Given the description of an element on the screen output the (x, y) to click on. 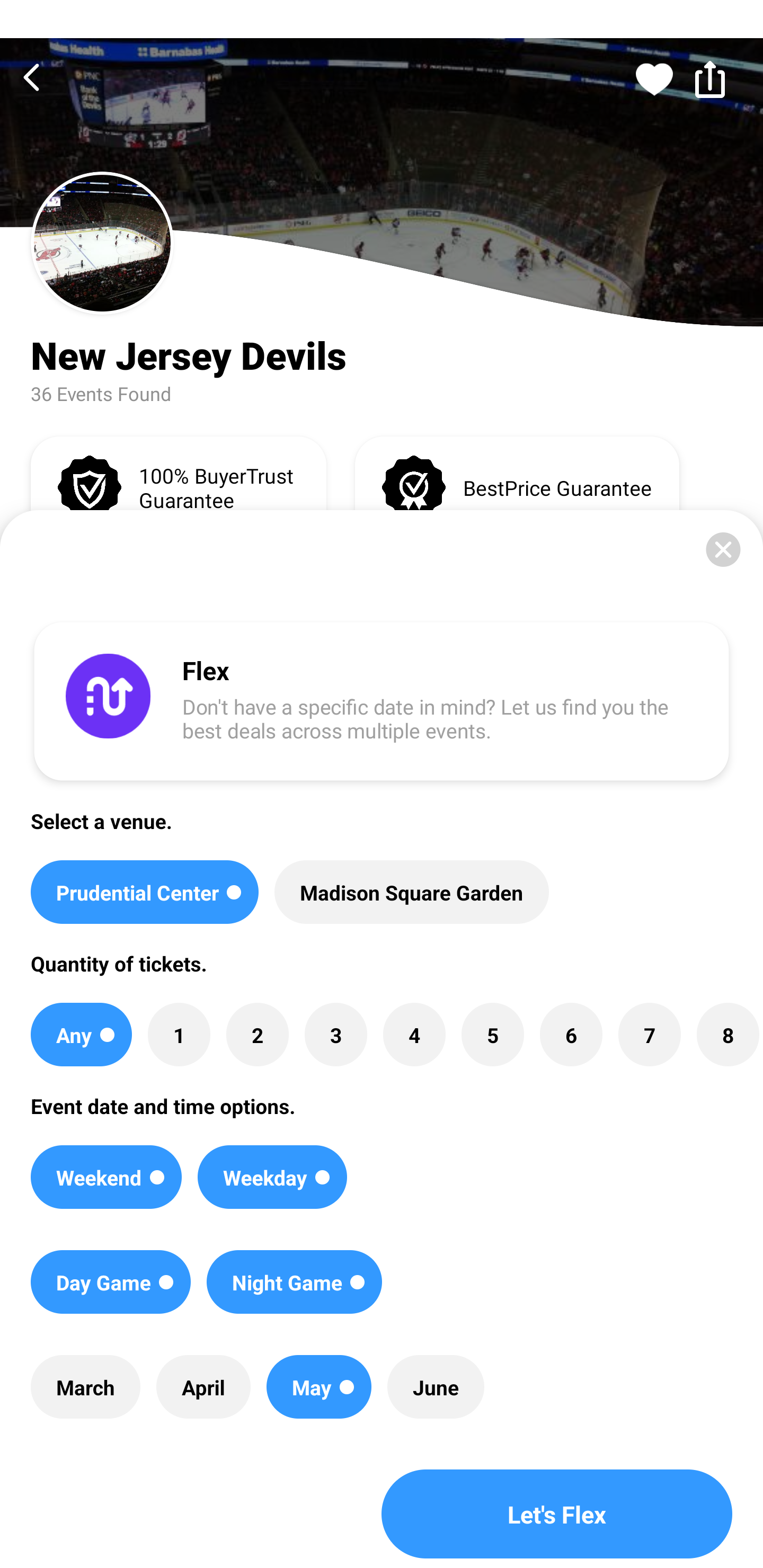
Prudential Center (144, 891)
Madison Square Garden (411, 891)
Any (80, 1034)
1 (179, 1034)
2 (257, 1034)
3 (335, 1034)
4 (414, 1034)
5 (492, 1034)
6 (571, 1034)
7 (649, 1034)
8 (727, 1034)
Weekend (105, 1176)
Weekday (272, 1176)
Day Game (110, 1281)
Night Game (294, 1281)
March (85, 1386)
April (203, 1386)
May (318, 1386)
June (435, 1386)
Let's Flex (556, 1513)
